Given the description of an element on the screen output the (x, y) to click on. 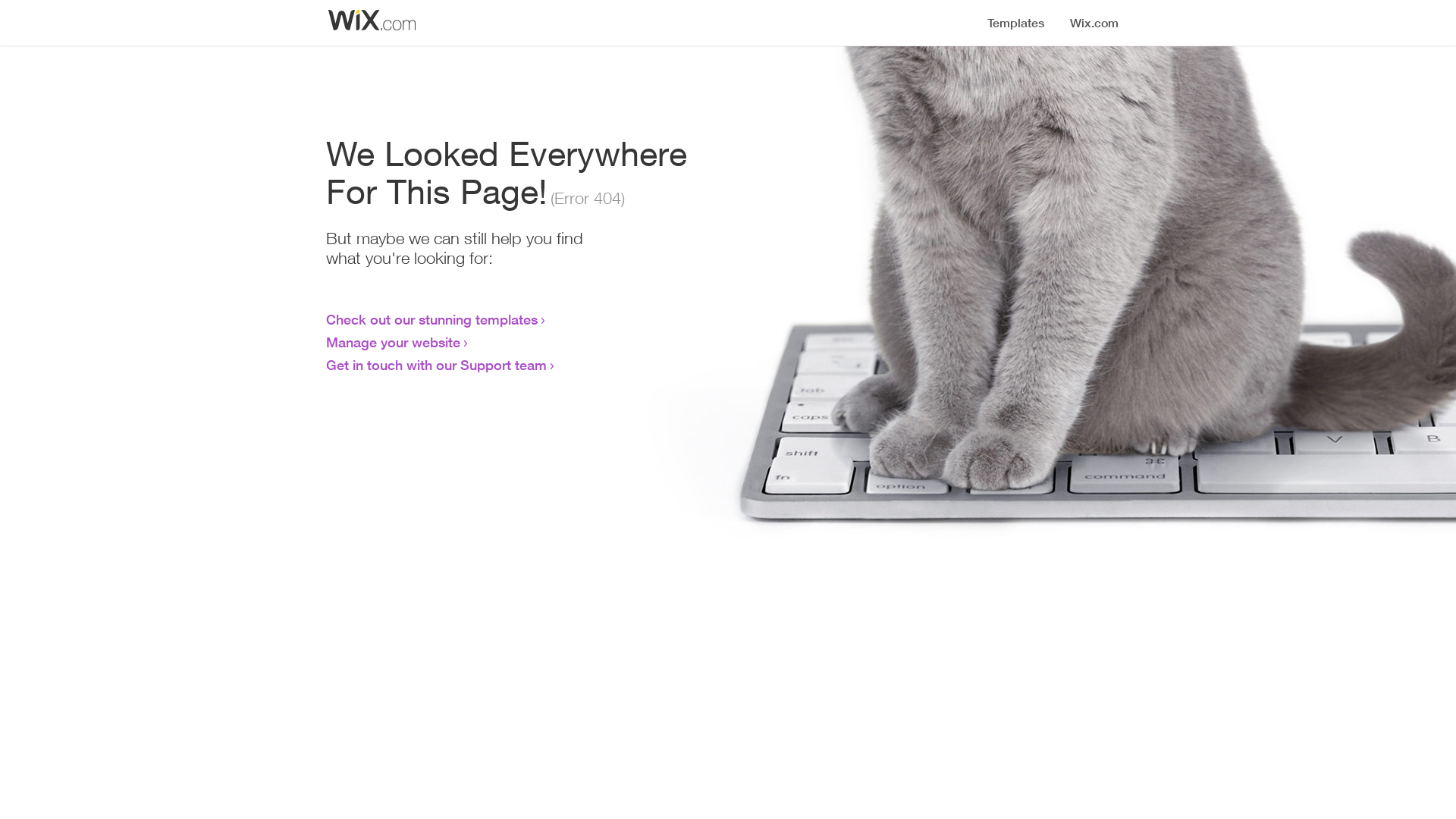
Get in touch with our Support team Element type: text (436, 364)
Check out our stunning templates Element type: text (431, 318)
Manage your website Element type: text (393, 341)
